Given the description of an element on the screen output the (x, y) to click on. 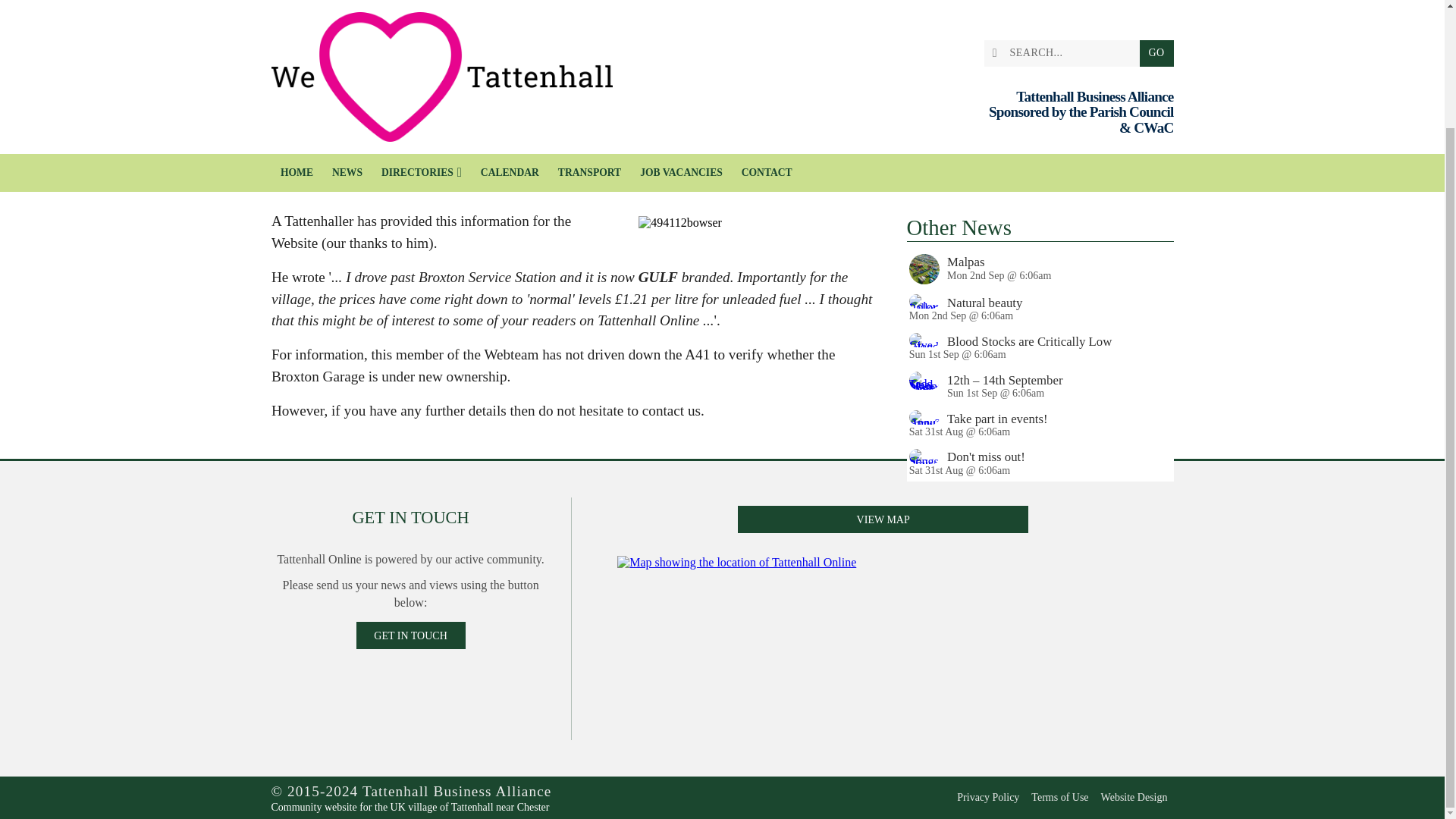
VIEW MAP (882, 559)
CALENDAR (509, 32)
NEWS (346, 32)
HOME (296, 32)
TRANSPORT (589, 32)
News (301, 142)
Visit our Facebook Page (1136, 30)
Sign into the Cloud (1162, 30)
CONTACT (767, 32)
